Given the description of an element on the screen output the (x, y) to click on. 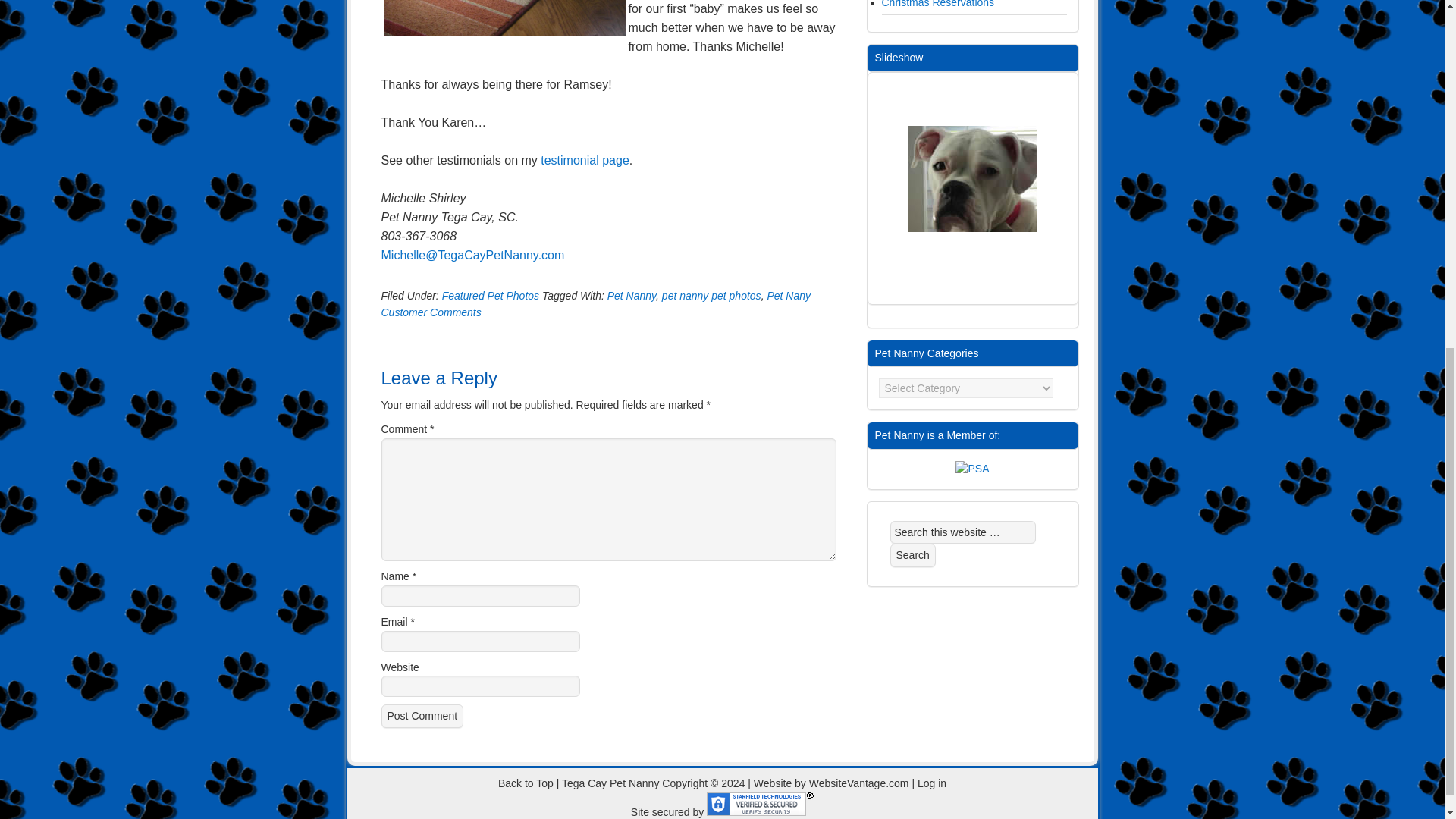
ramsey (504, 18)
pet nanny pet photos (711, 295)
Post Comment (421, 716)
Pet Nanny (631, 295)
Pet Nany Customer Comments (595, 303)
Search (912, 555)
Christmas Reservations (937, 4)
Post Comment (421, 716)
Featured Pet Photos (490, 295)
testimonial page (584, 160)
